Given the description of an element on the screen output the (x, y) to click on. 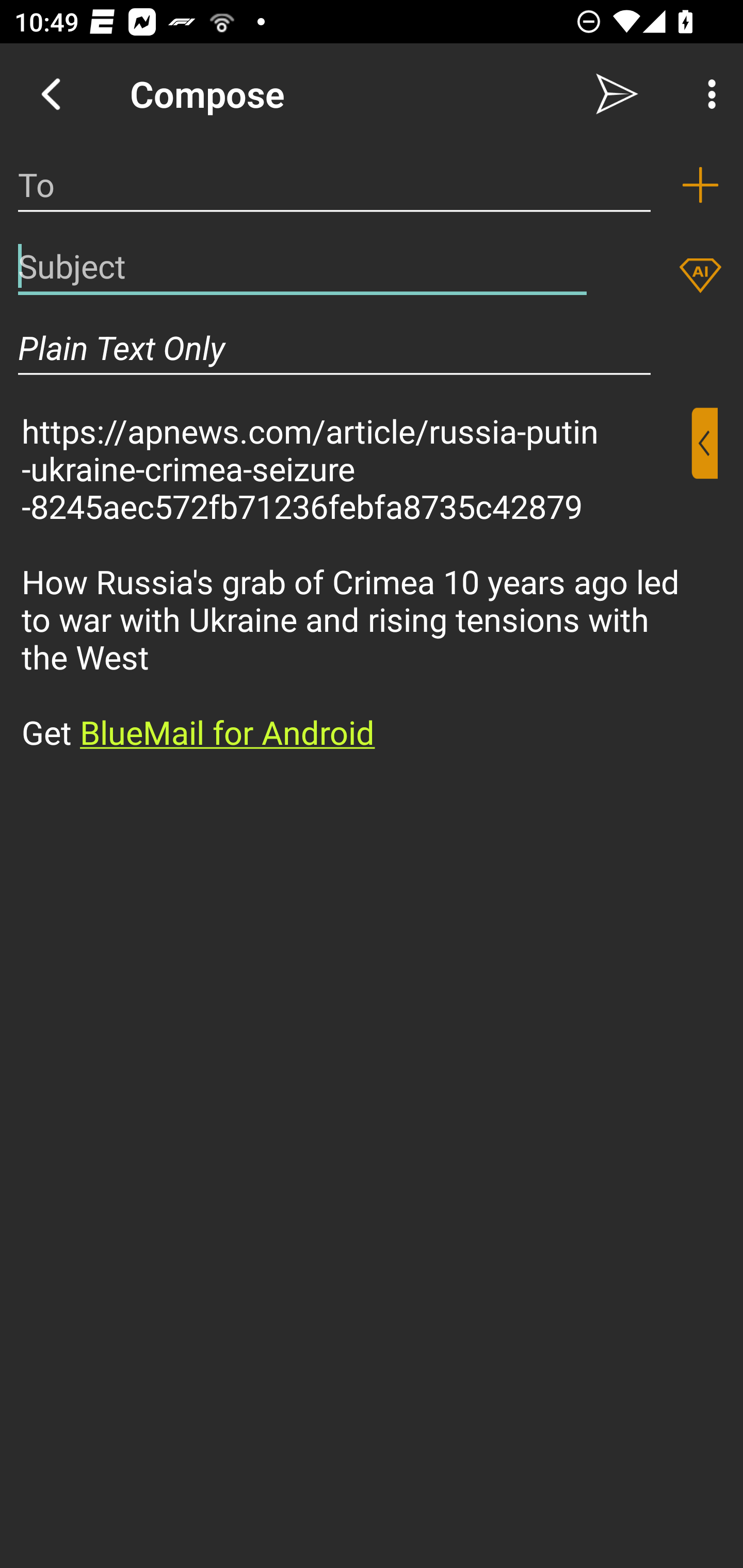
Navigate up (50, 93)
Send (616, 93)
More Options (706, 93)
To (334, 184)
Add recipient (To) (699, 184)
Subject (302, 266)
Plain Text Only (334, 347)
